Given the description of an element on the screen output the (x, y) to click on. 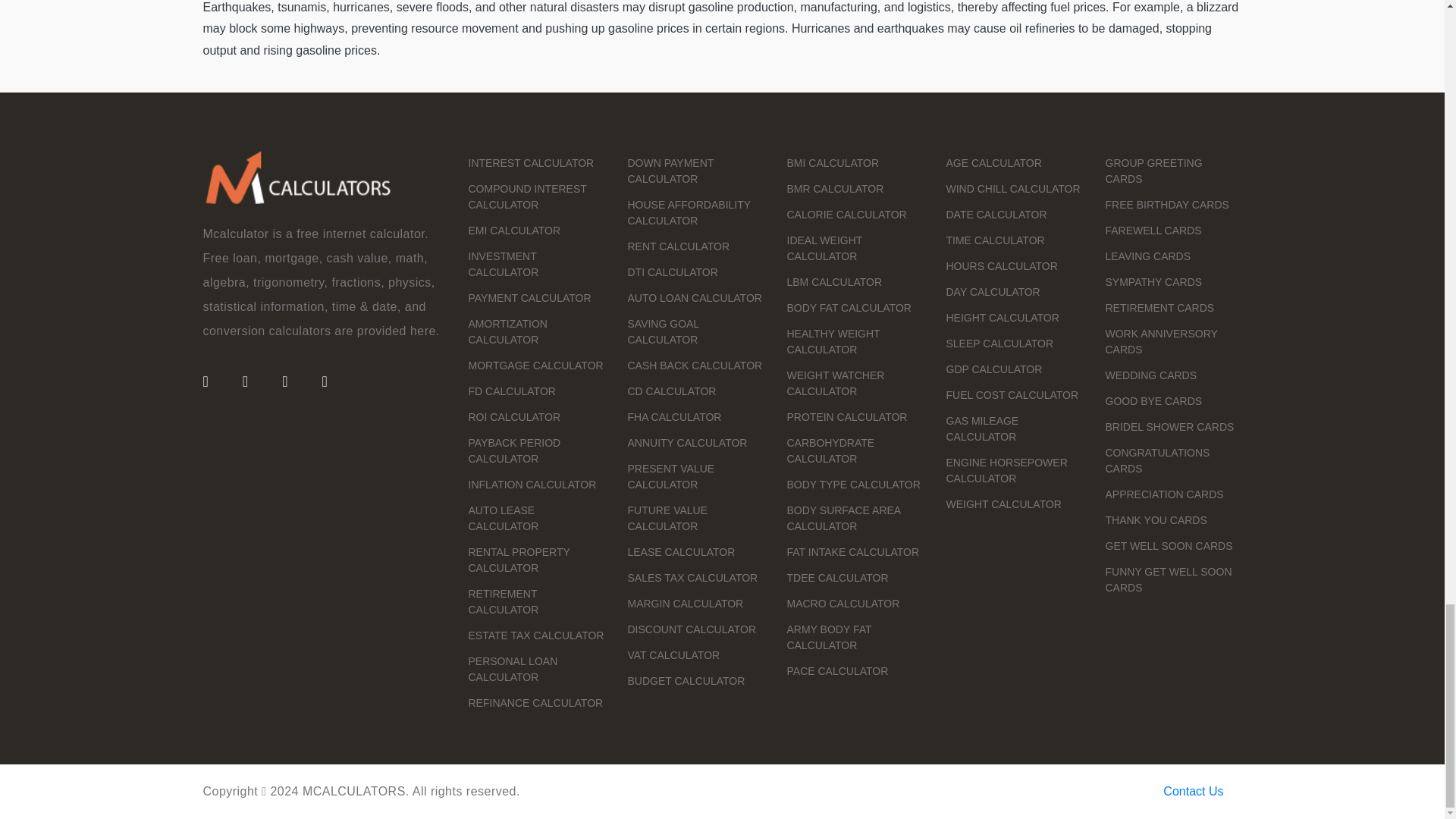
AMORTIZATION CALCULATOR (507, 331)
RENTAL PROPERTY CALCULATOR (519, 560)
ESTATE TAX CALCULATOR (536, 635)
FD CALCULATOR (512, 390)
PRESENT VALUE CALCULATOR (670, 476)
INVESTMENT CALCULATOR (503, 264)
REFINANCE CALCULATOR (536, 702)
PAYBACK PERIOD CALCULATOR (514, 450)
ANNUITY CALCULATOR (687, 442)
CD CALCULATOR (671, 390)
